Given the description of an element on the screen output the (x, y) to click on. 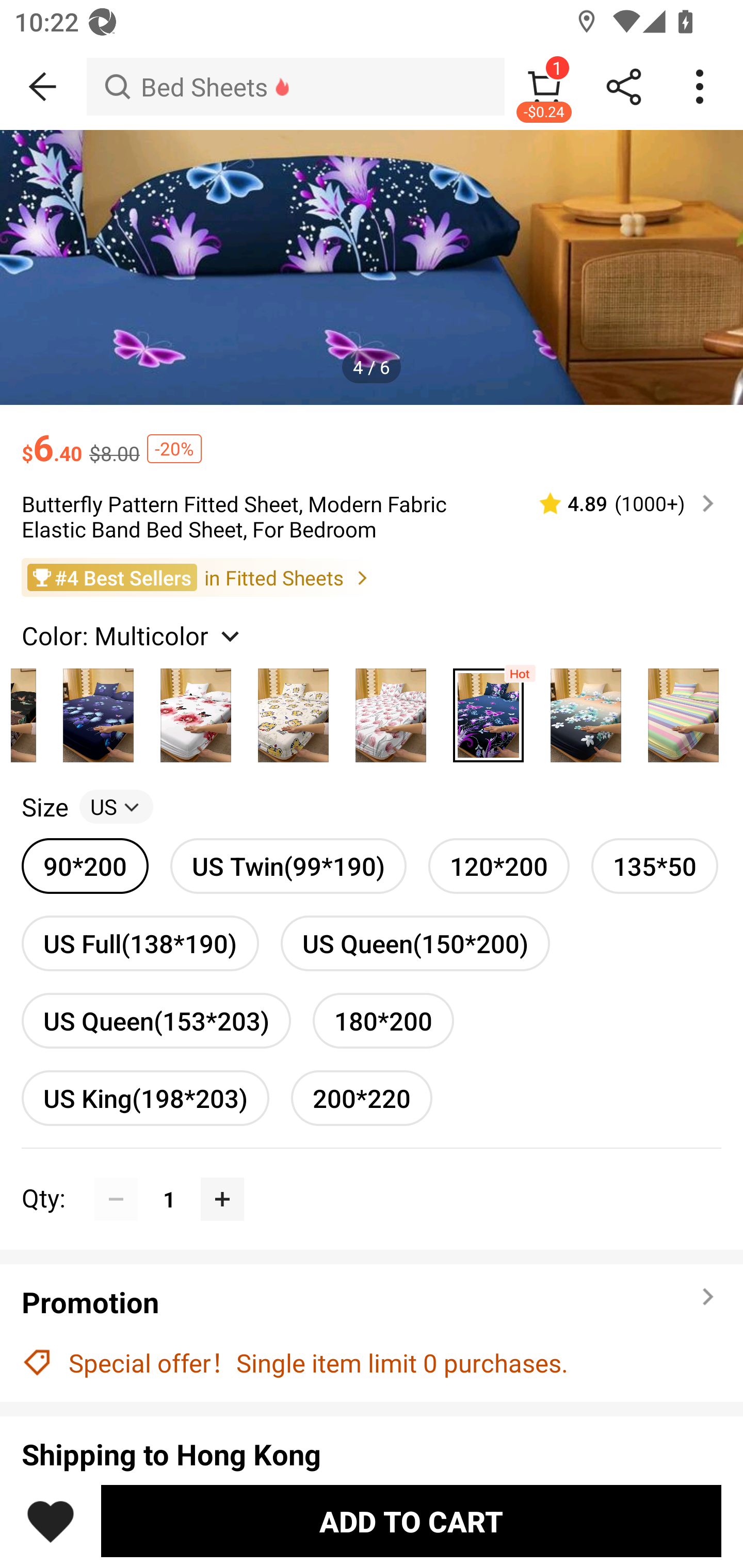
BACK (43, 86)
1 -$0.24 (543, 87)
Bed Sheets (295, 87)
PHOTOS (371, 267)
4 / 6 (371, 366)
$6.40 $8.00 -20% (371, 437)
4.89 (1000‎+) (617, 503)
#4 Best Sellers in Fitted Sheets (371, 577)
Color: Multicolor (132, 634)
Multicolor (98, 710)
Multicolor (195, 710)
Multicolor (292, 710)
Multicolor (390, 710)
Multicolor (488, 710)
Multicolor (585, 710)
Multicolor (682, 710)
Size (44, 806)
US (116, 806)
90*200 90*200selected option (84, 865)
US Twin(99*190) US Twin(99*190)unselected option (288, 865)
120*200 120*200unselected option (498, 865)
135*50 135*50unselected option (654, 865)
US Full(138*190) US Full(138*190)unselected option (140, 942)
180*200 180*200unselected option (382, 1020)
US King(198*203) US King(198*203)unselected option (144, 1097)
200*220 200*220unselected option (361, 1097)
Qty: 1 (371, 1177)
Shipping to Hong Kong (371, 1453)
ADD TO CART (411, 1520)
Saved (50, 1520)
